Given the description of an element on the screen output the (x, y) to click on. 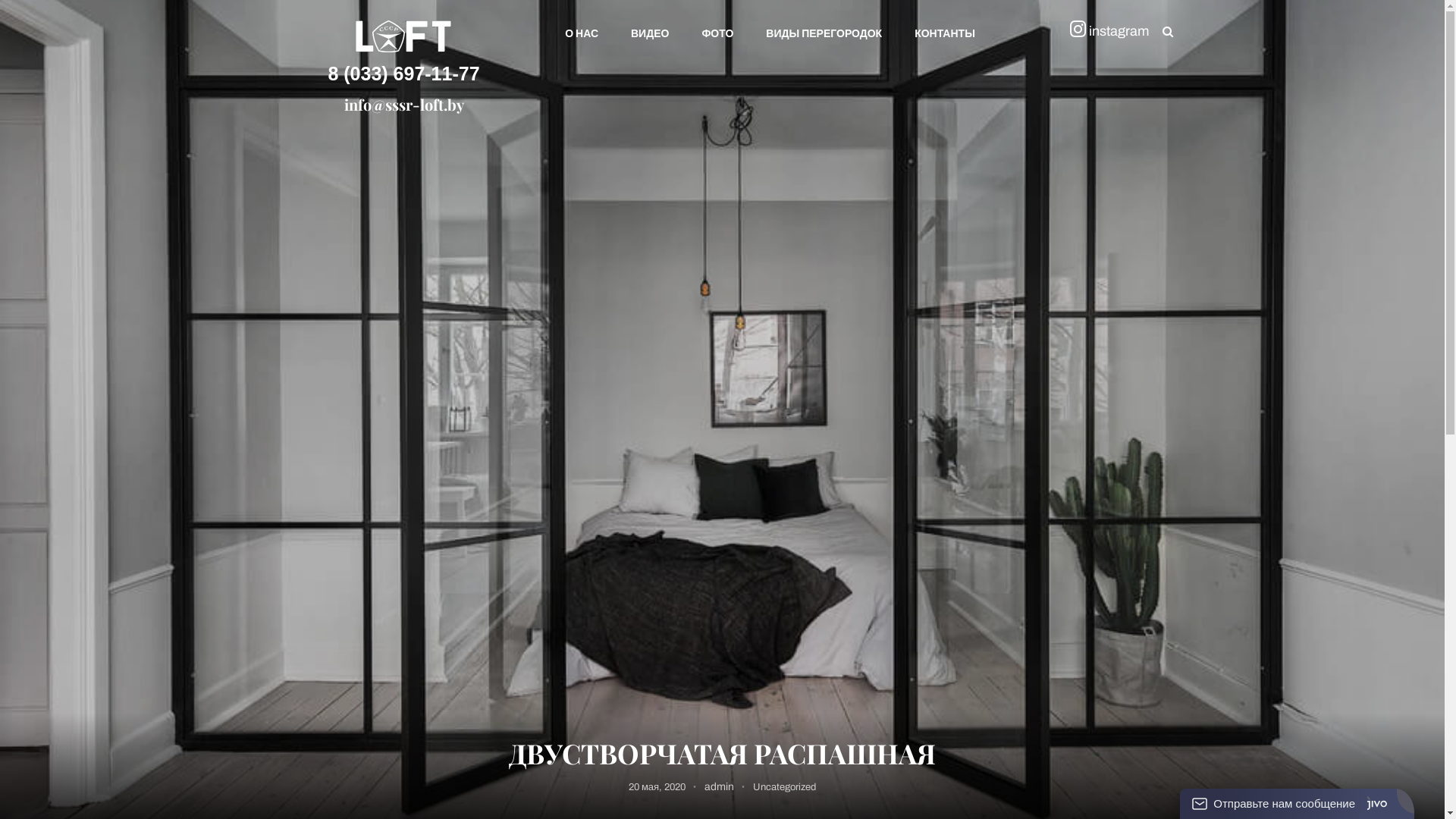
8 (033) 697-11-77 Element type: text (402, 73)
admin Element type: text (719, 786)
Uncategorized Element type: text (784, 786)
Skip To Content Element type: text (39, 10)
